Given the description of an element on the screen output the (x, y) to click on. 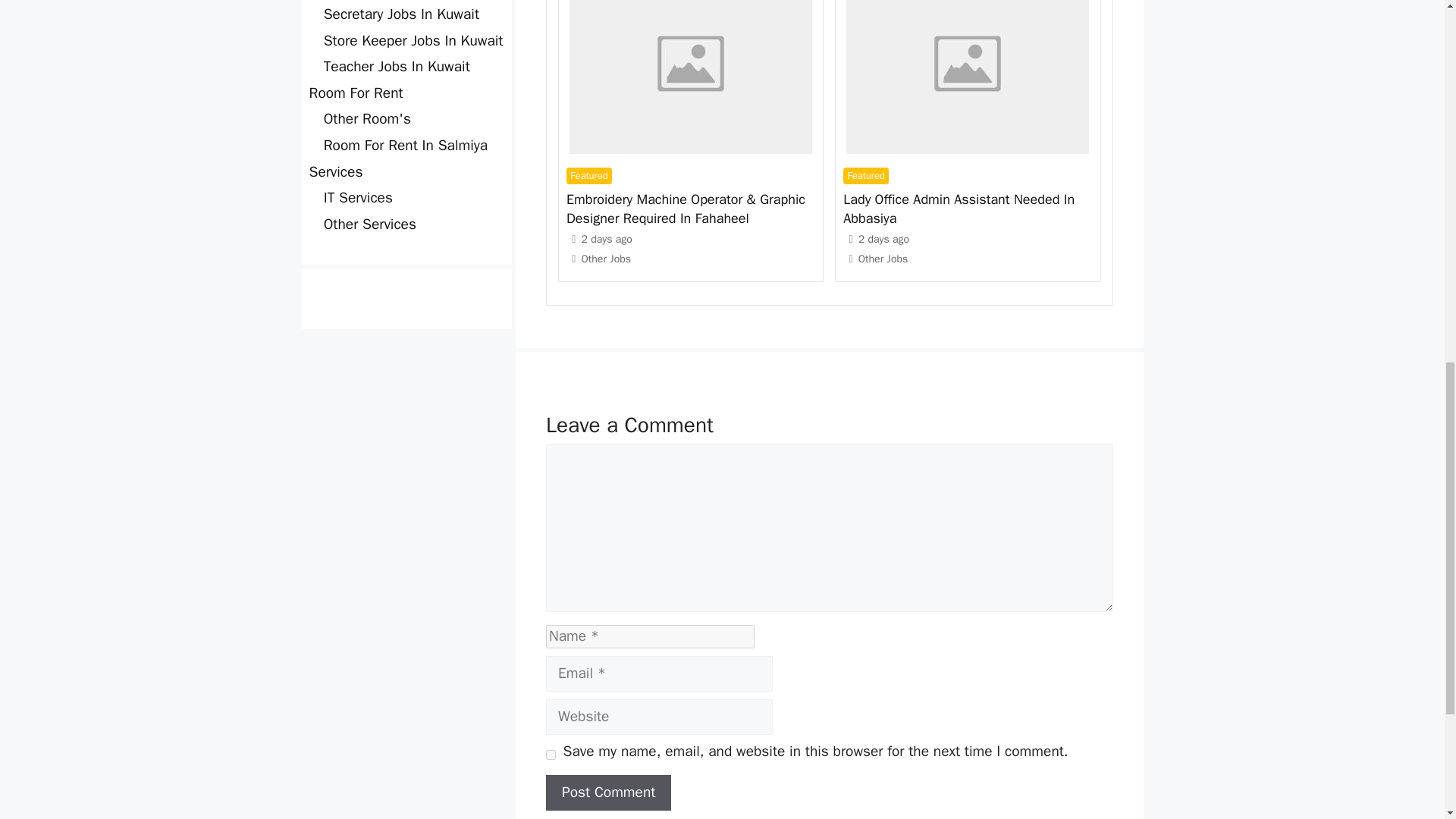
Scroll back to top (1406, 720)
Opportunity for Female Assistance In Jabriya 1 (690, 76)
Other Jobs (605, 258)
yes (551, 755)
Post Comment (608, 792)
Opportunity for Female Assistance In Jabriya 2 (967, 76)
